Given the description of an element on the screen output the (x, y) to click on. 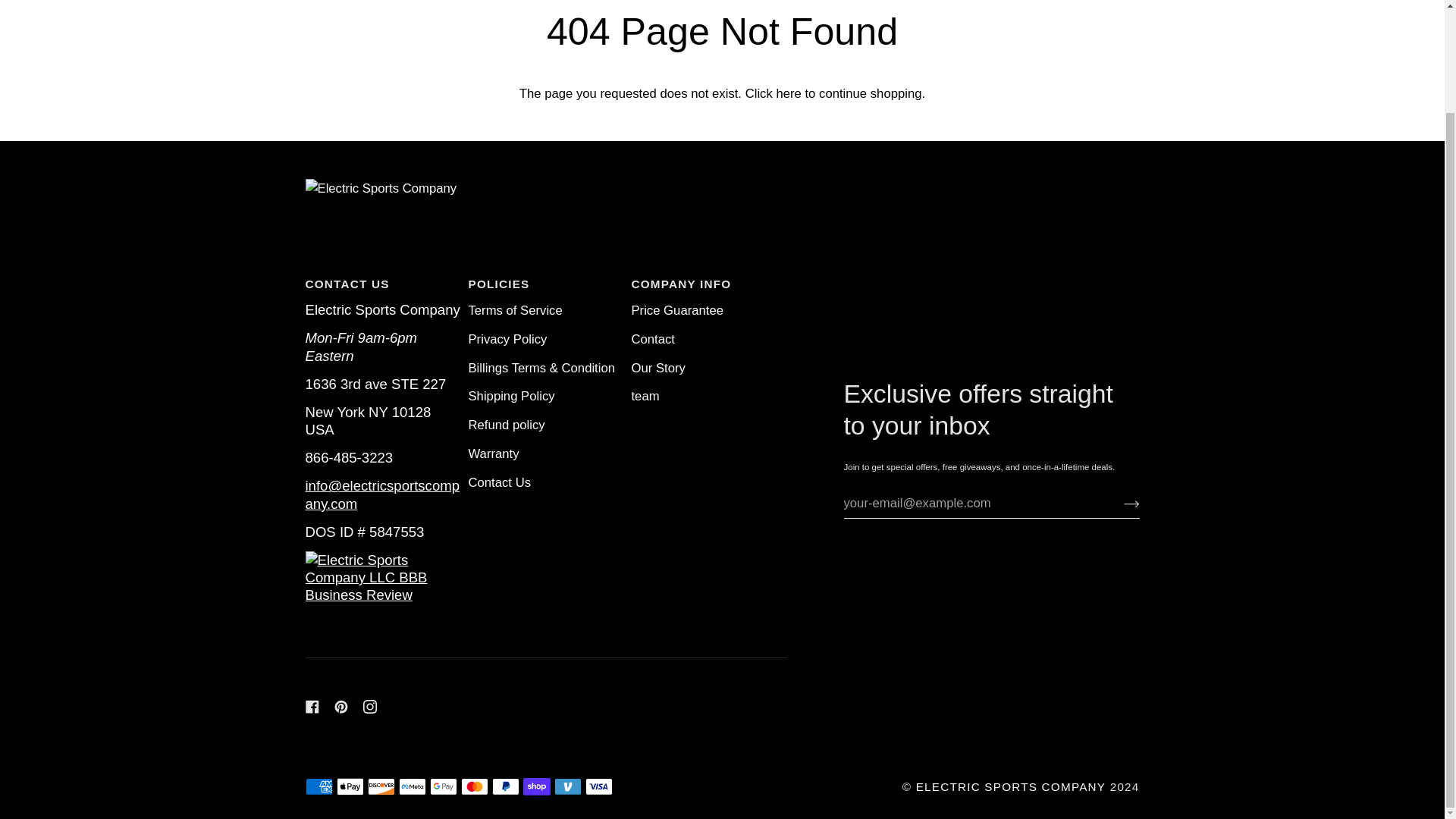
SHOP PAY (536, 786)
APPLE PAY (350, 786)
Pinterest (340, 706)
META PAY (412, 786)
MASTERCARD (474, 786)
VENMO (566, 786)
Instagram (368, 706)
PAYPAL (505, 786)
DISCOVER (380, 786)
Facebook (311, 706)
GOOGLE PAY (443, 786)
VISA (598, 786)
AMERICAN EXPRESS (317, 786)
